Given the description of an element on the screen output the (x, y) to click on. 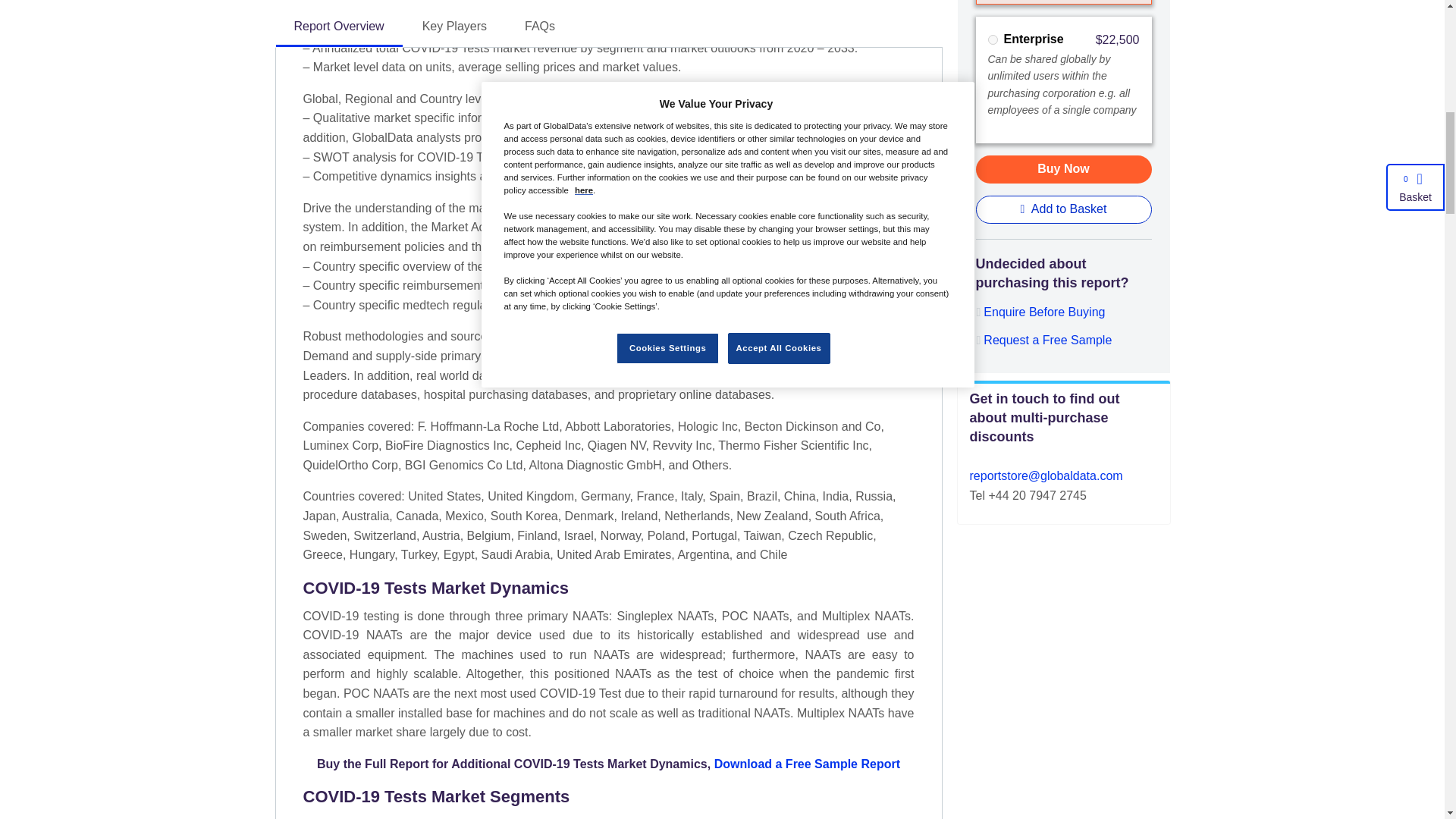
1948929 (992, 40)
